Given the description of an element on the screen output the (x, y) to click on. 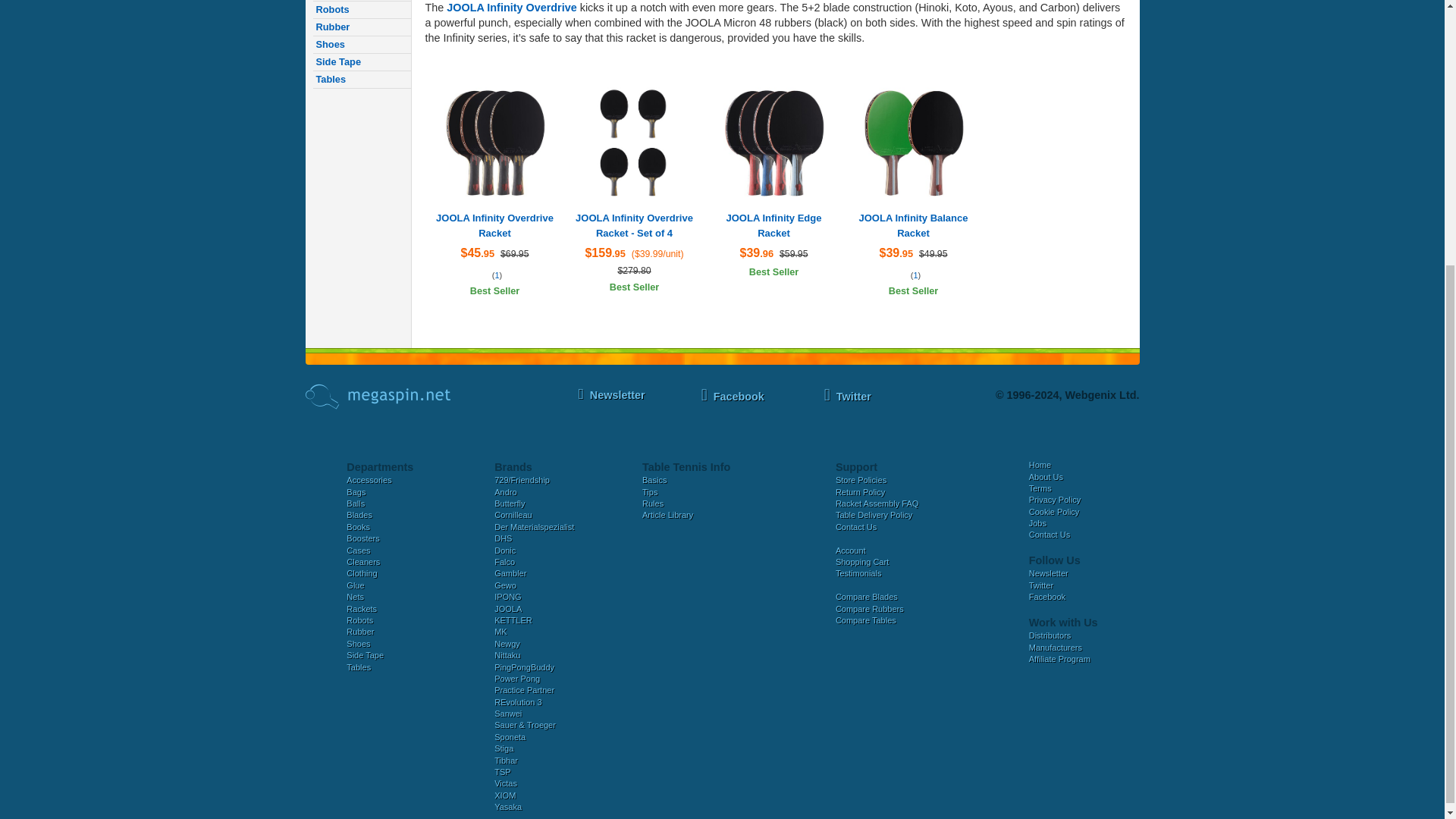
Robots (361, 9)
Shoes (361, 45)
Side Tape (361, 62)
Rubber (361, 27)
Tables (361, 79)
Rackets (361, 0)
